Given the description of an element on the screen output the (x, y) to click on. 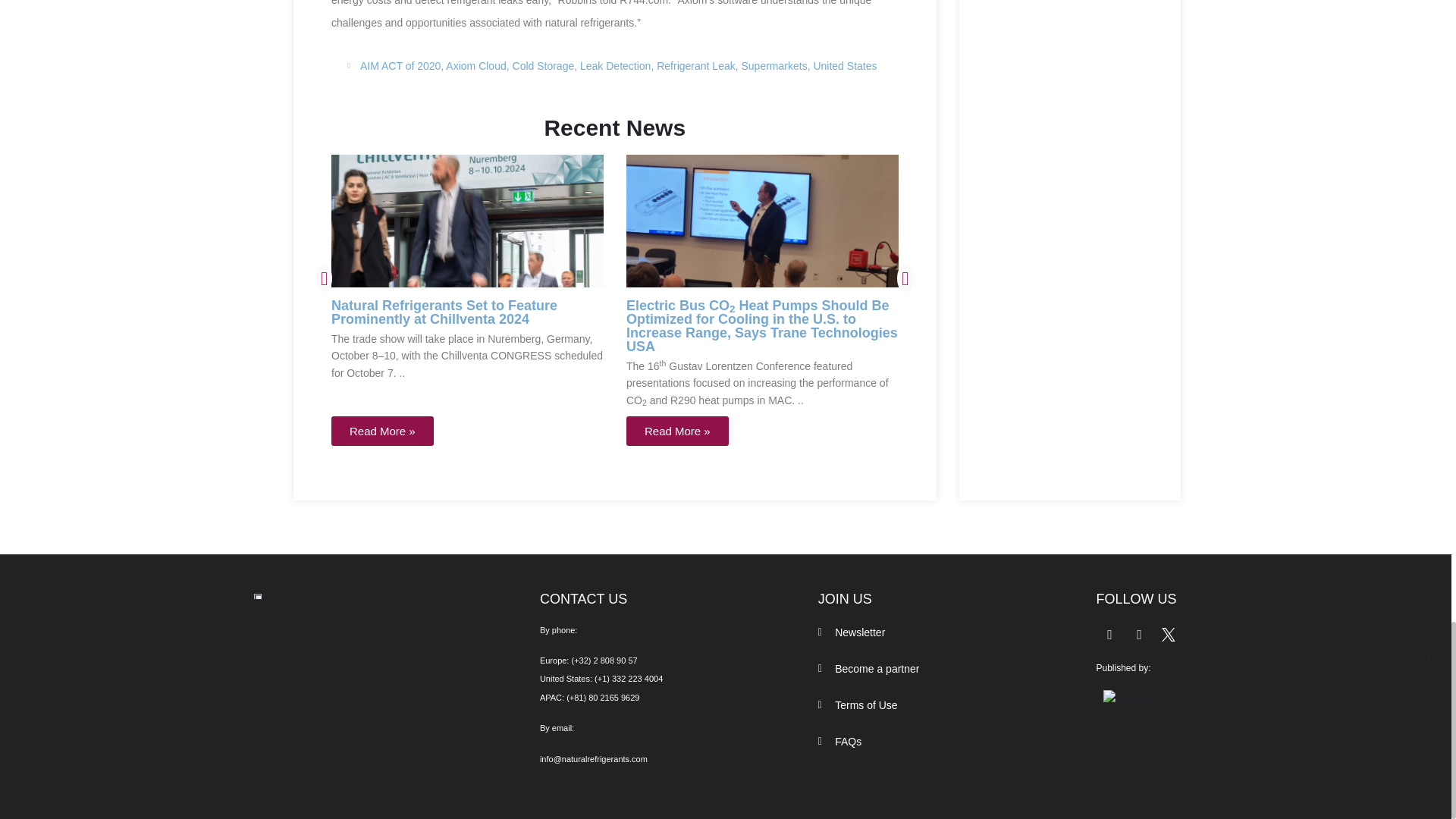
Axiom Cloud (475, 65)
United States (844, 65)
AIM ACT of 2020 (400, 65)
Cold Storage (543, 65)
Supermarkets (774, 65)
Leak Detection (614, 65)
Refrigerant Leak (695, 65)
